Given the description of an element on the screen output the (x, y) to click on. 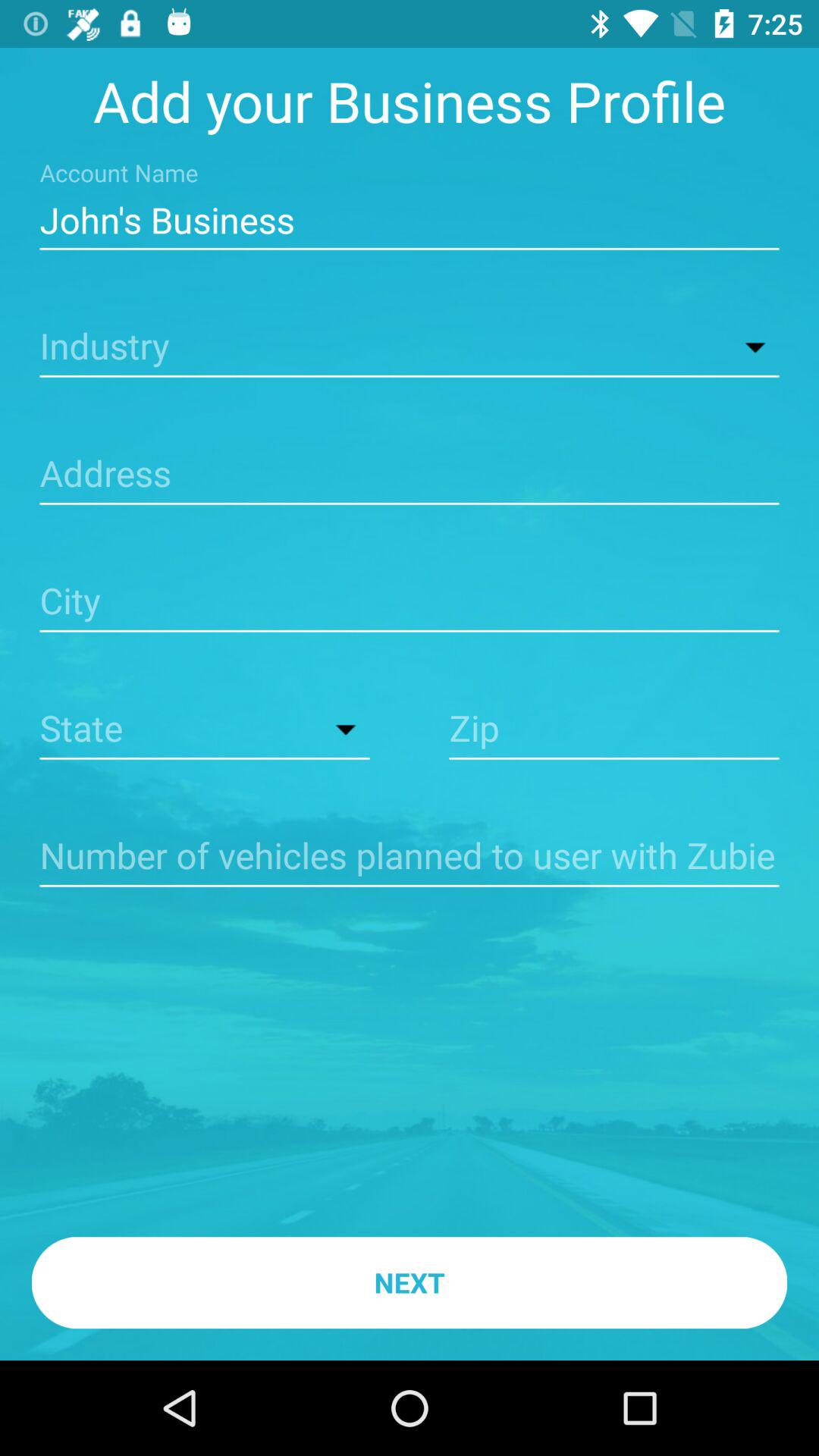
zip code (614, 730)
